Given the description of an element on the screen output the (x, y) to click on. 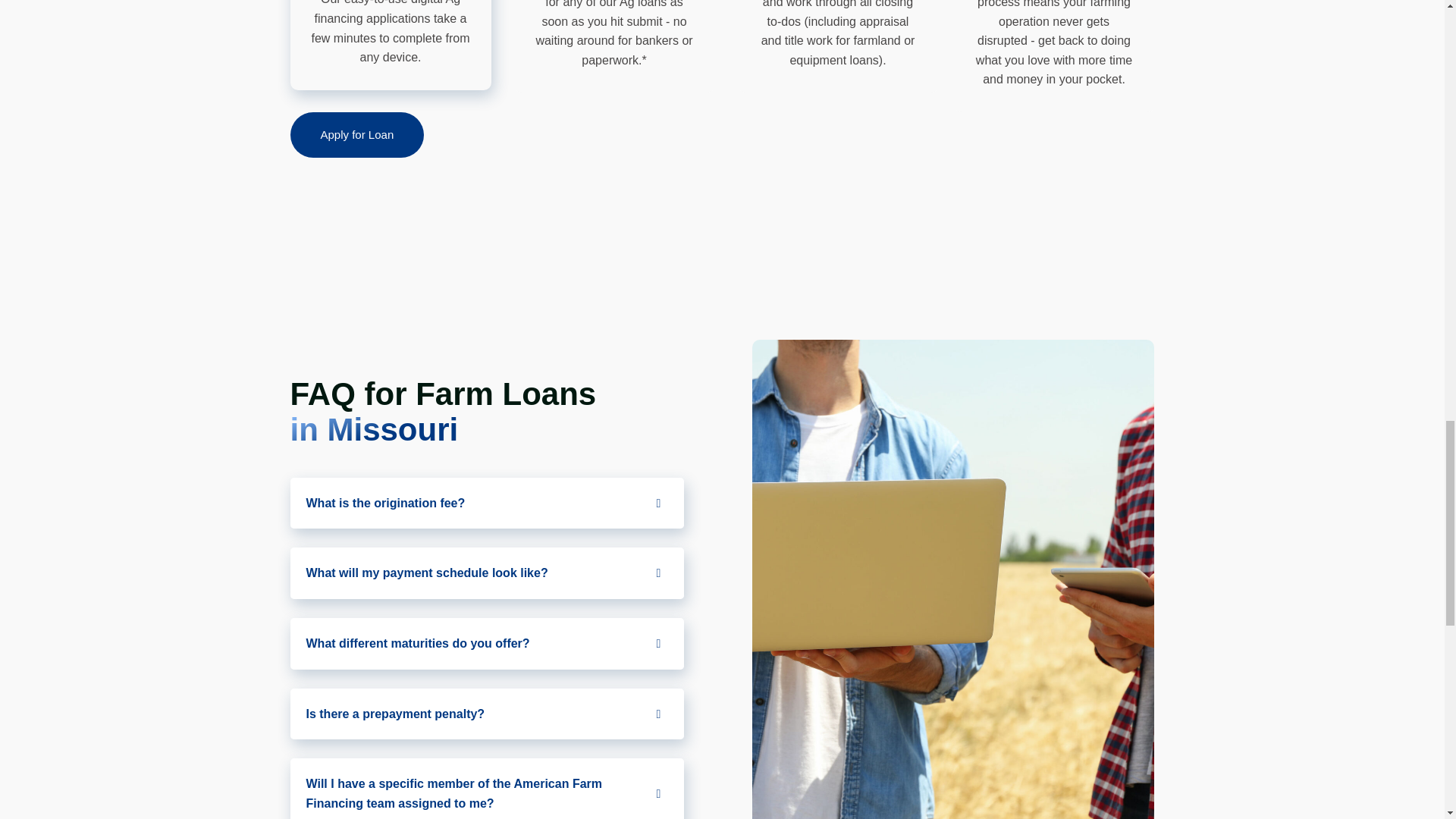
What is the origination fee? (486, 503)
Is there a prepayment penalty? (486, 714)
What will my payment schedule look like? (486, 572)
Apply for Loan (356, 135)
What different maturities do you offer? (486, 643)
